Given the description of an element on the screen output the (x, y) to click on. 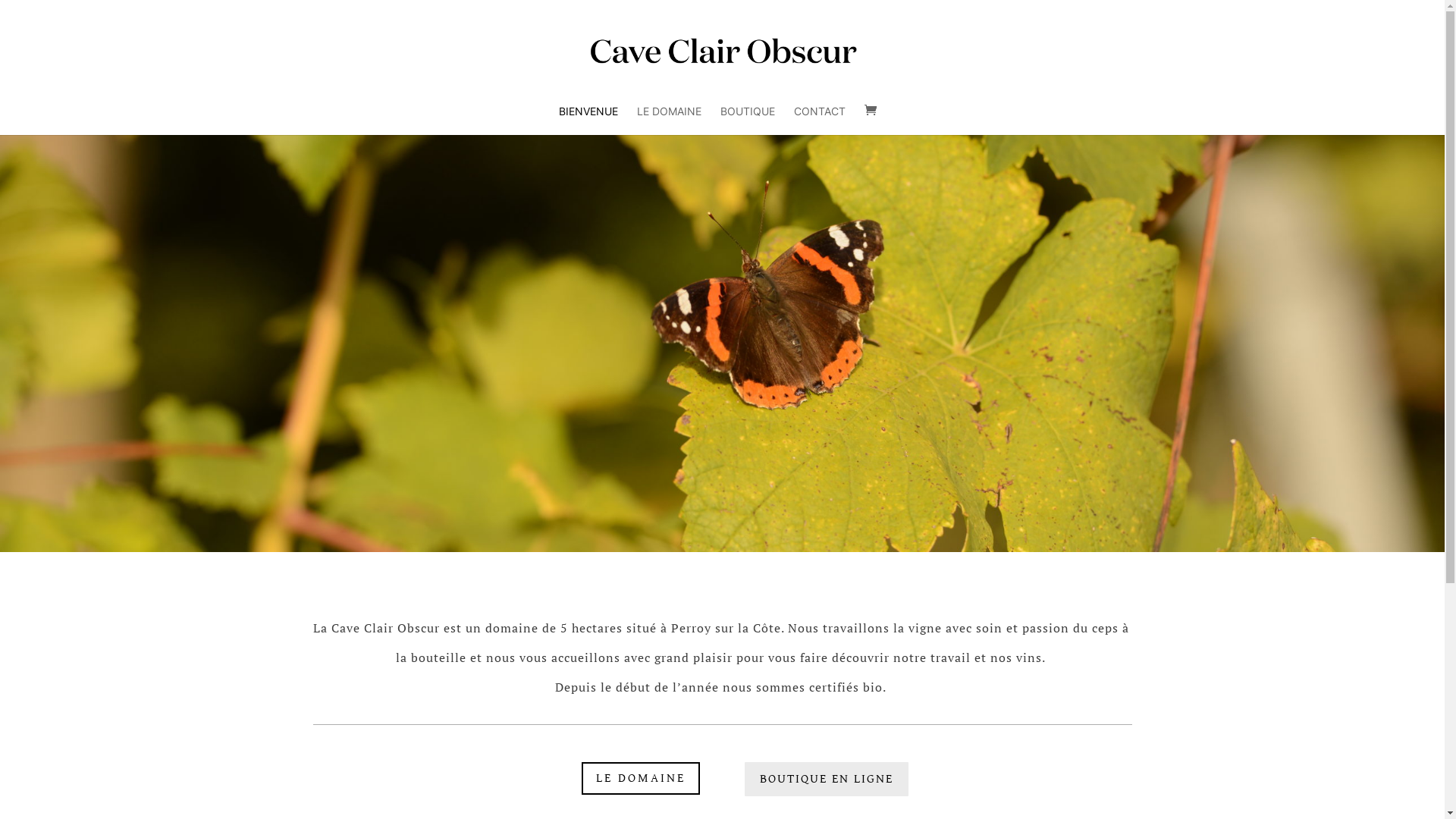
BOUTIQUE EN LIGNE Element type: text (826, 779)
LE DOMAINE Element type: text (640, 778)
LE DOMAINE Element type: text (669, 120)
BIENVENUE Element type: text (588, 120)
BOUTIQUE Element type: text (747, 120)
CONTACT Element type: text (819, 120)
